Given the description of an element on the screen output the (x, y) to click on. 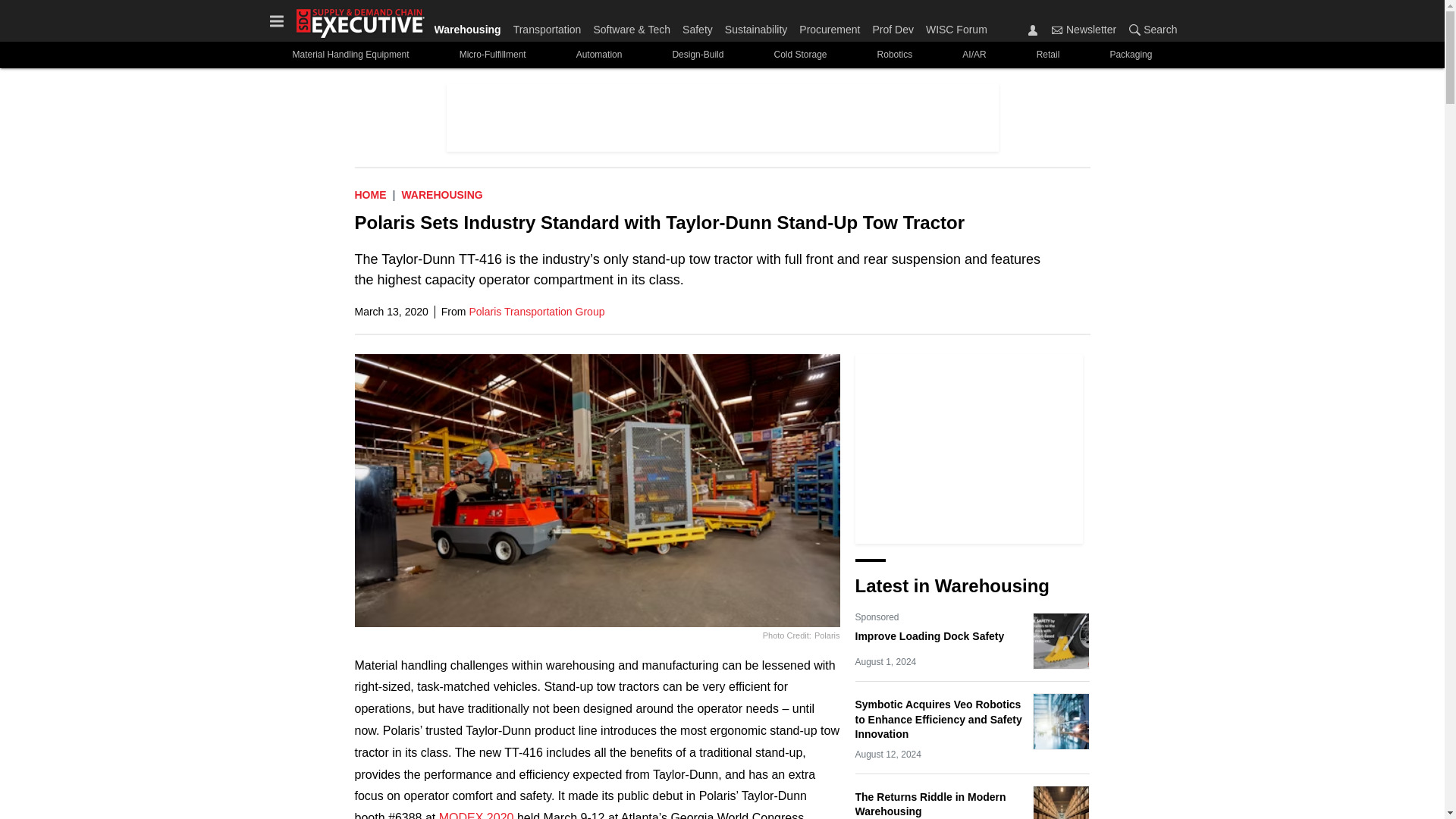
Sign In (1032, 29)
Sustainability (756, 26)
Procurement (829, 26)
Search (1149, 29)
Robotics (895, 54)
WISC Forum (953, 26)
Packaging (1130, 54)
3rd party ad content (721, 117)
Prof Dev (892, 26)
Sponsored (877, 616)
